Given the description of an element on the screen output the (x, y) to click on. 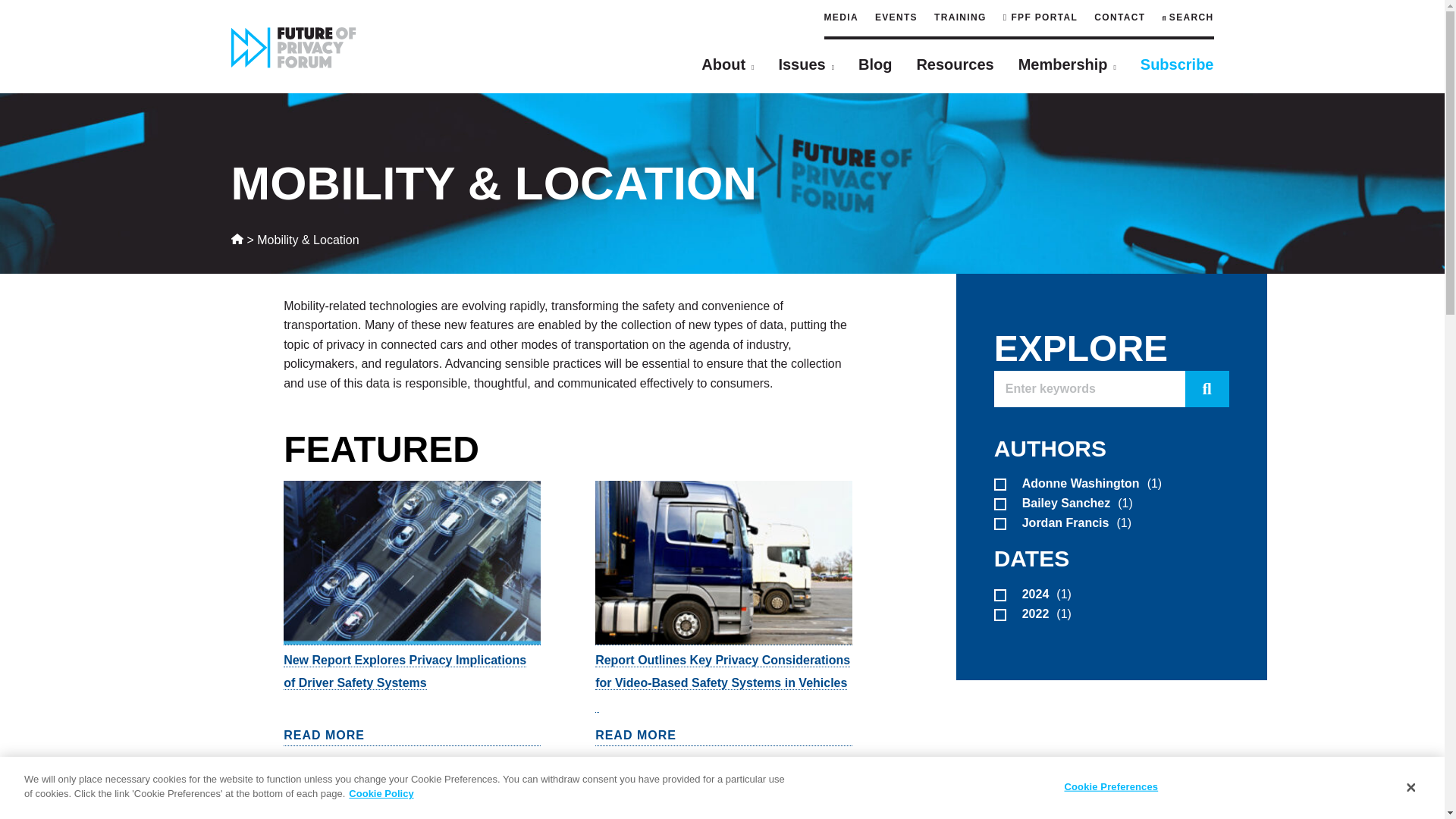
Issues (805, 64)
Resources (953, 64)
Home (236, 240)
CONTACT (1119, 17)
FPF PORTAL (1040, 17)
MEDIA (841, 17)
Blog (875, 64)
Subscribe (1177, 64)
TRAINING (960, 17)
About (727, 64)
SEARCH (1186, 17)
Membership (1066, 64)
EVENTS (896, 17)
